Given the description of an element on the screen output the (x, y) to click on. 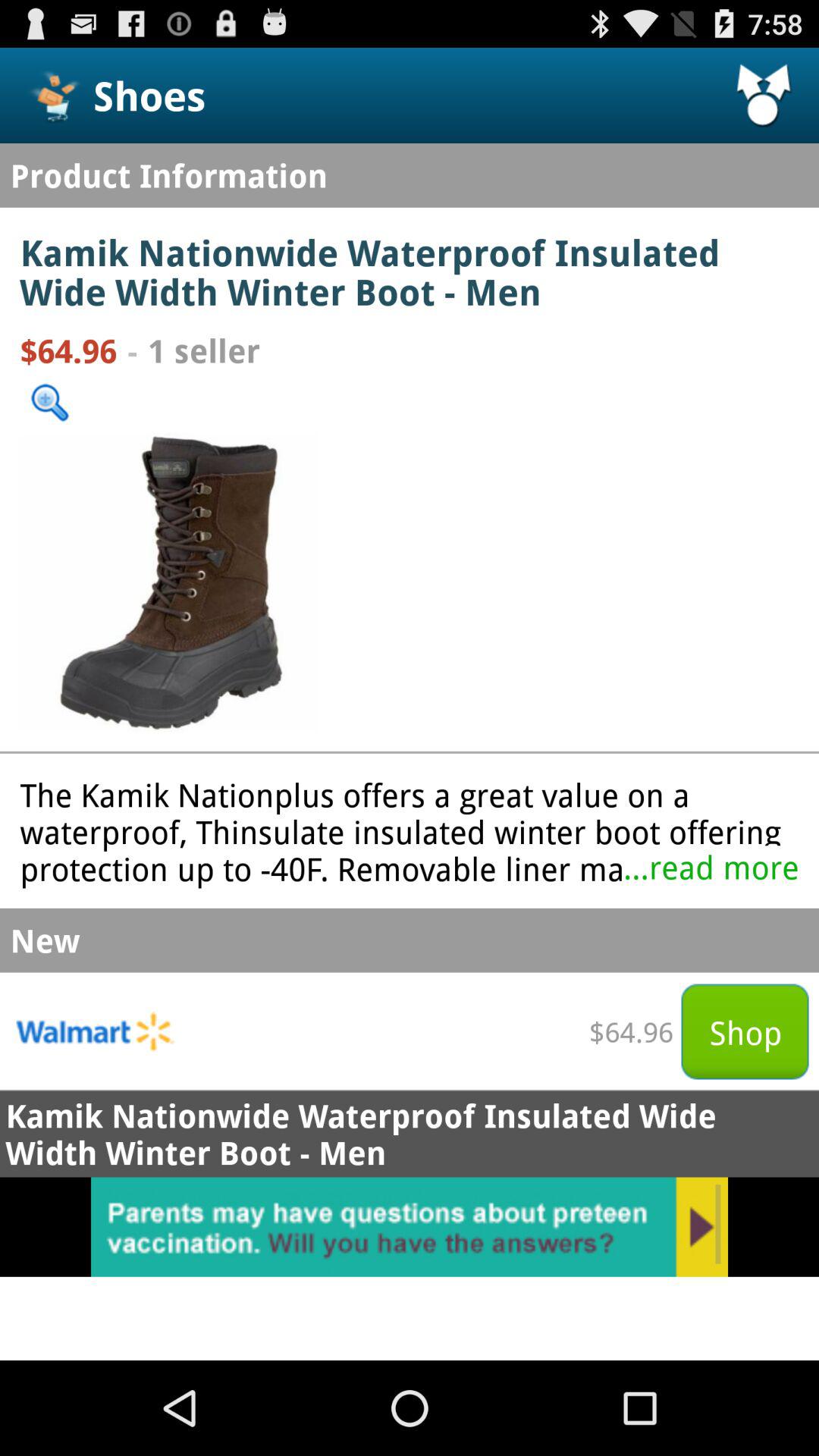
go to next (409, 1226)
